Given the description of an element on the screen output the (x, y) to click on. 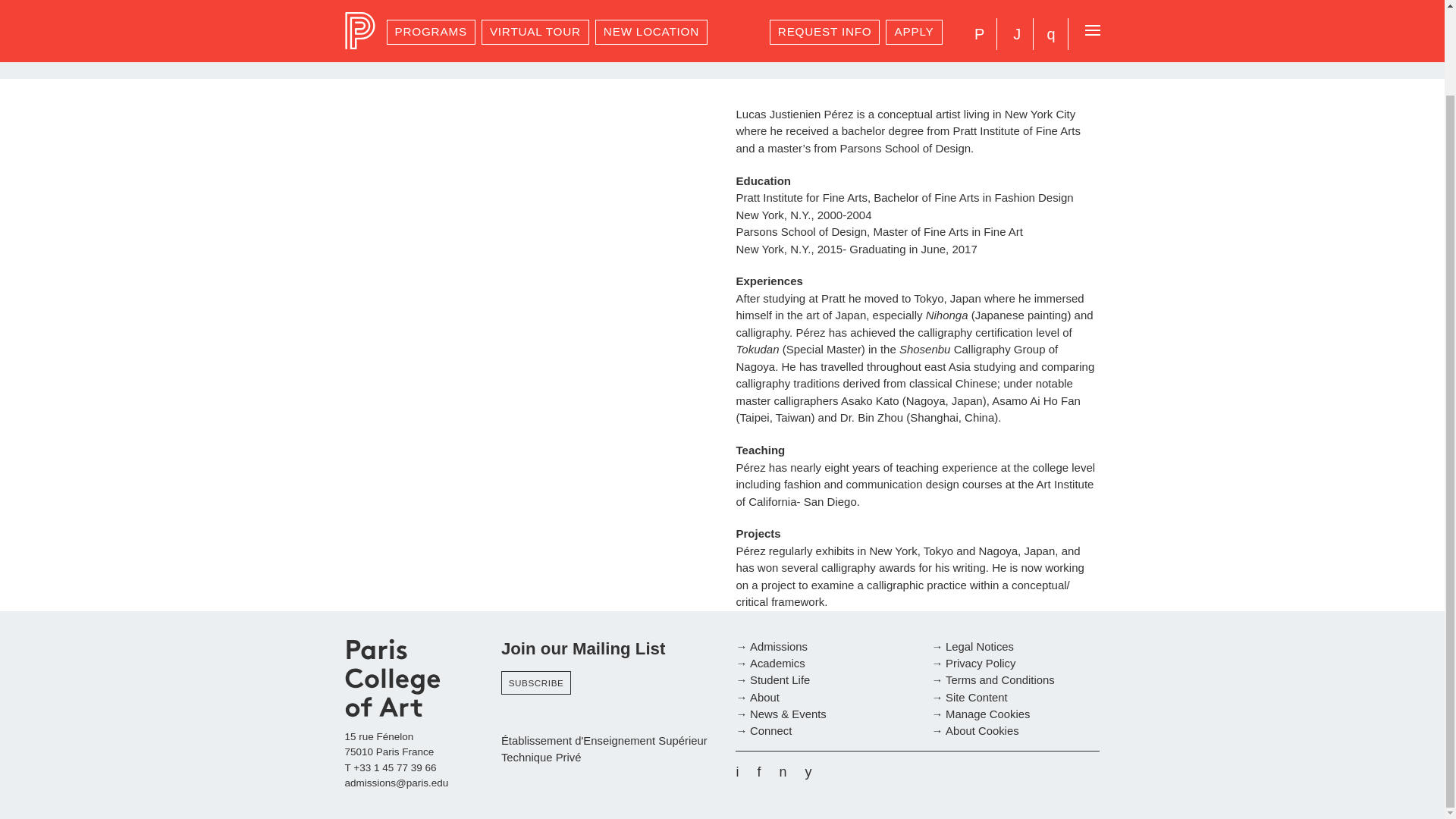
Go to PCA. (354, 2)
Go to Academics. (412, 2)
